Given the description of an element on the screen output the (x, y) to click on. 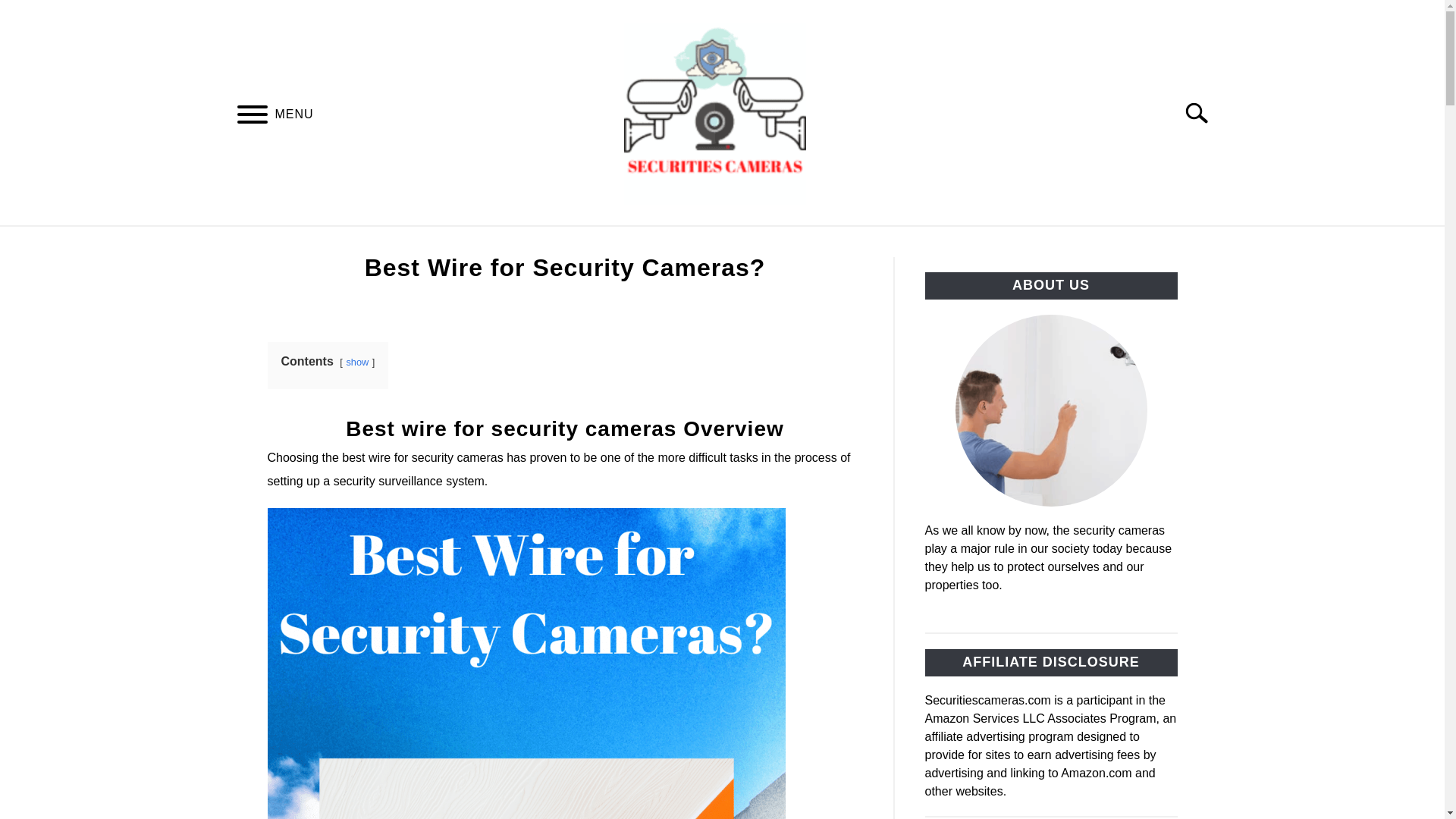
FREE USEFUL TOOLS (907, 243)
show (357, 361)
SECURITY CAMERA REVIEWS (560, 243)
Search (1203, 112)
PRODUCT INFOS (746, 243)
MENU (251, 116)
